Given the description of an element on the screen output the (x, y) to click on. 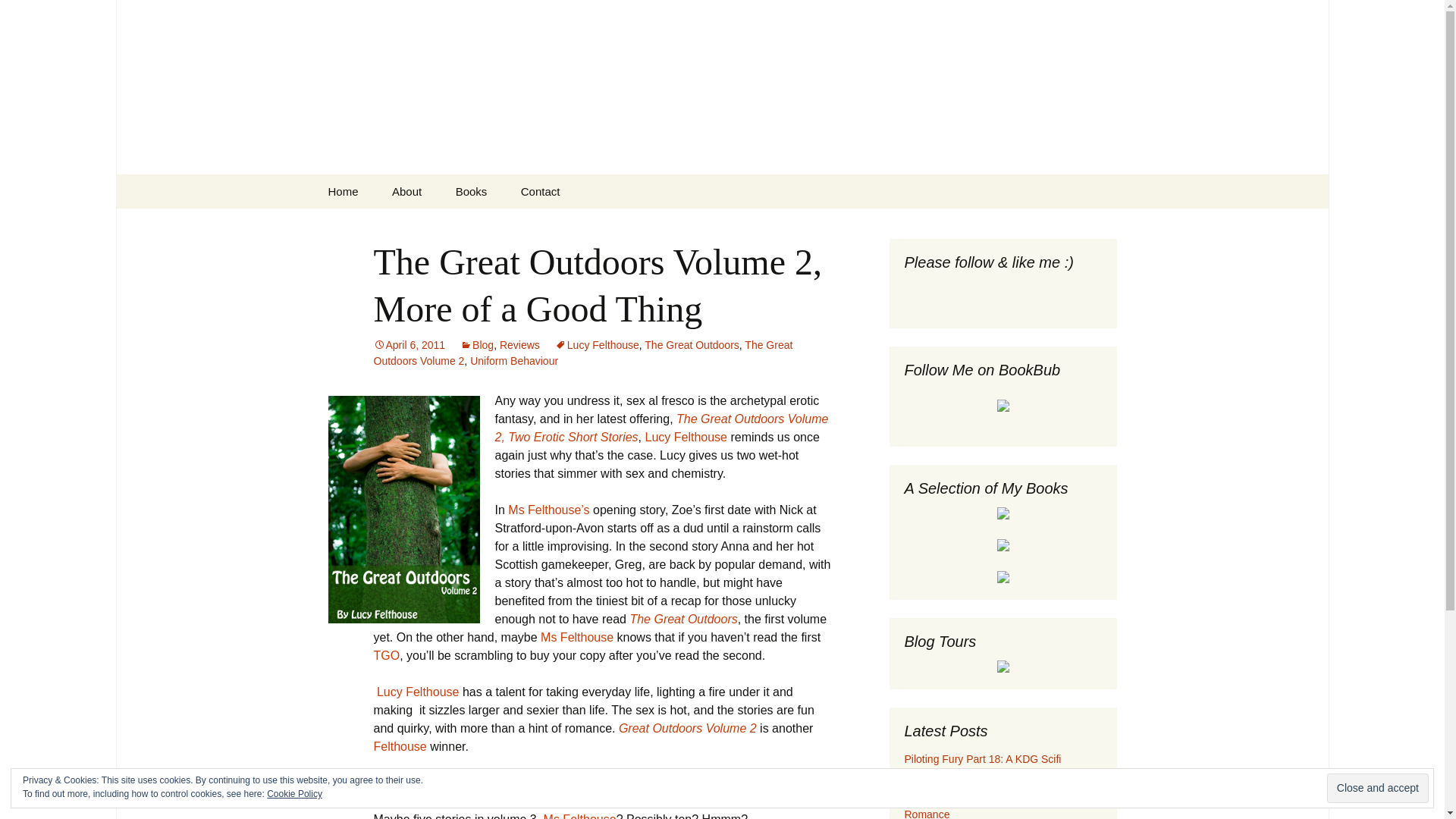
The Great Outdoors Volume 2 (582, 352)
Home (342, 191)
Books (471, 191)
Great Outdoors Volume 2 (687, 727)
Lucy Felthouse (686, 436)
TGO (385, 655)
Close and accept (1377, 788)
About (406, 191)
The Great Outdoors (682, 618)
